Given the description of an element on the screen output the (x, y) to click on. 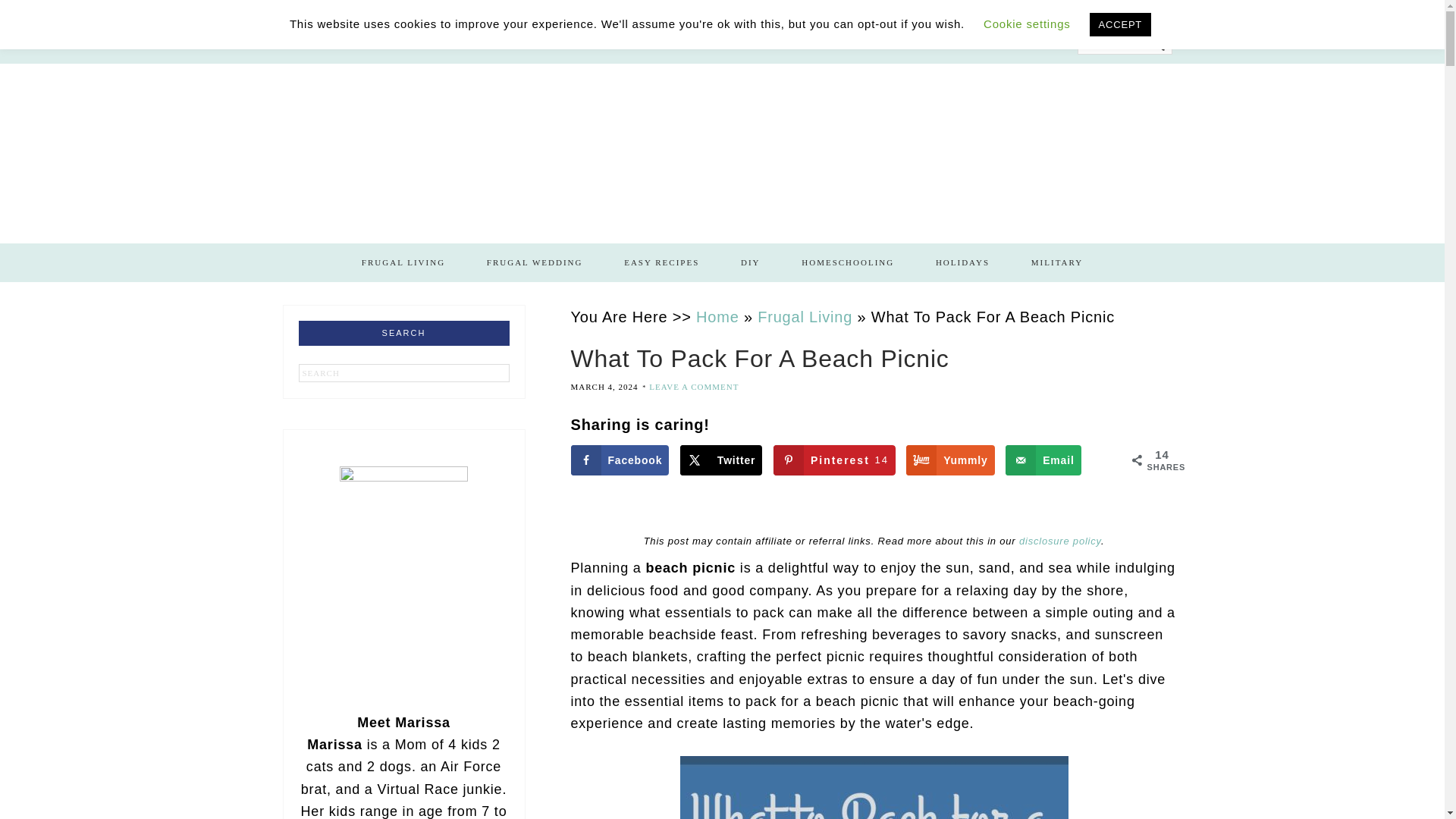
SHOP OUR STORE (326, 43)
Twitter (720, 460)
How to Start a Blog (466, 43)
Facebook (619, 460)
Frugal Living (403, 261)
Yummly (949, 460)
FRUGAL WEDDING (534, 261)
HOMESCHOOLING (847, 261)
cheap wedding ideas (534, 261)
MILITARY (1056, 261)
LEAVE A COMMENT (693, 386)
FRUGAL LIVING (403, 261)
the frugal navy wife store (326, 43)
contact the frugal navy wife (739, 43)
Frugal holidays (963, 261)
